Given the description of an element on the screen output the (x, y) to click on. 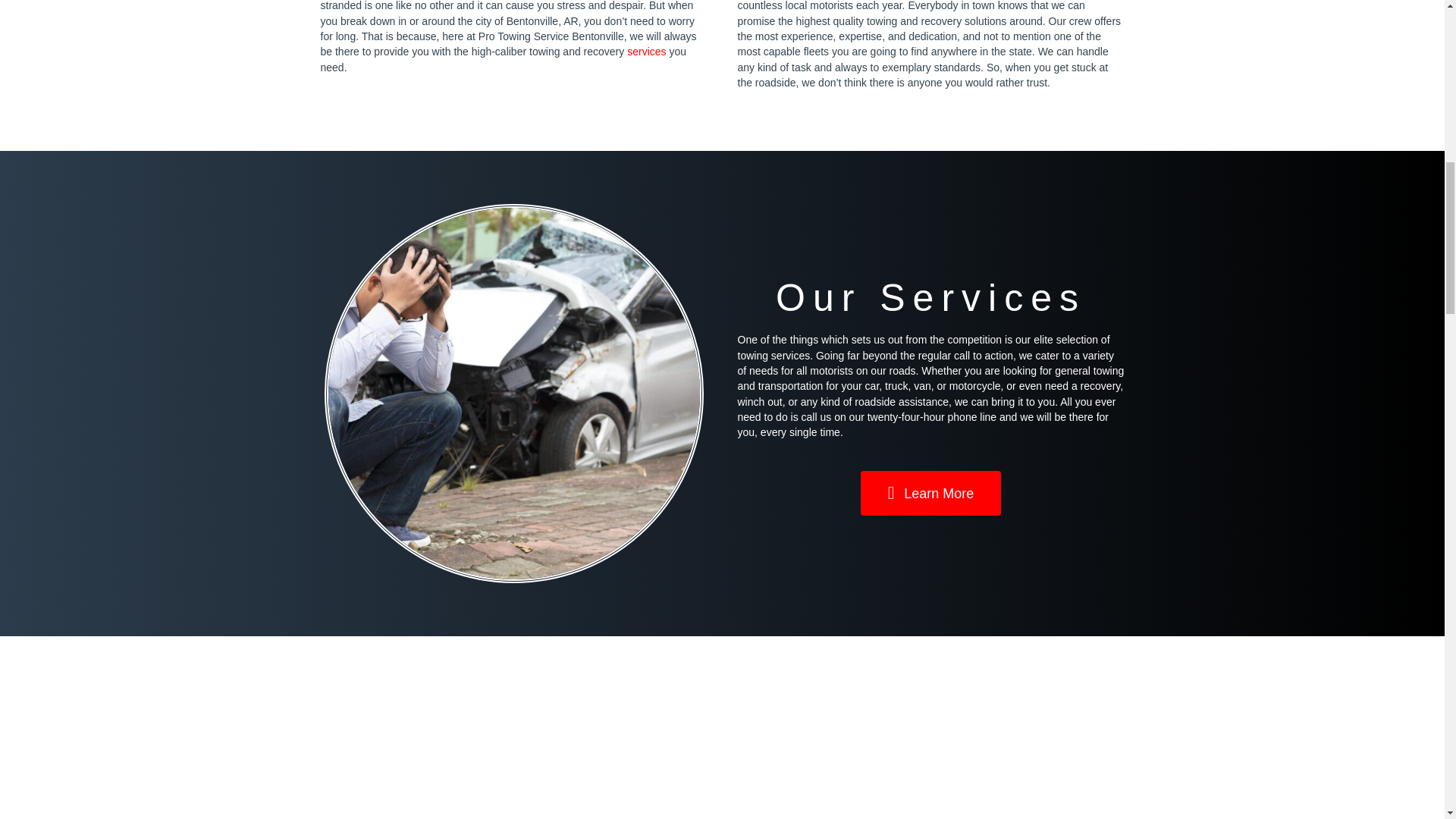
Learn More (930, 492)
services (646, 51)
